Given the description of an element on the screen output the (x, y) to click on. 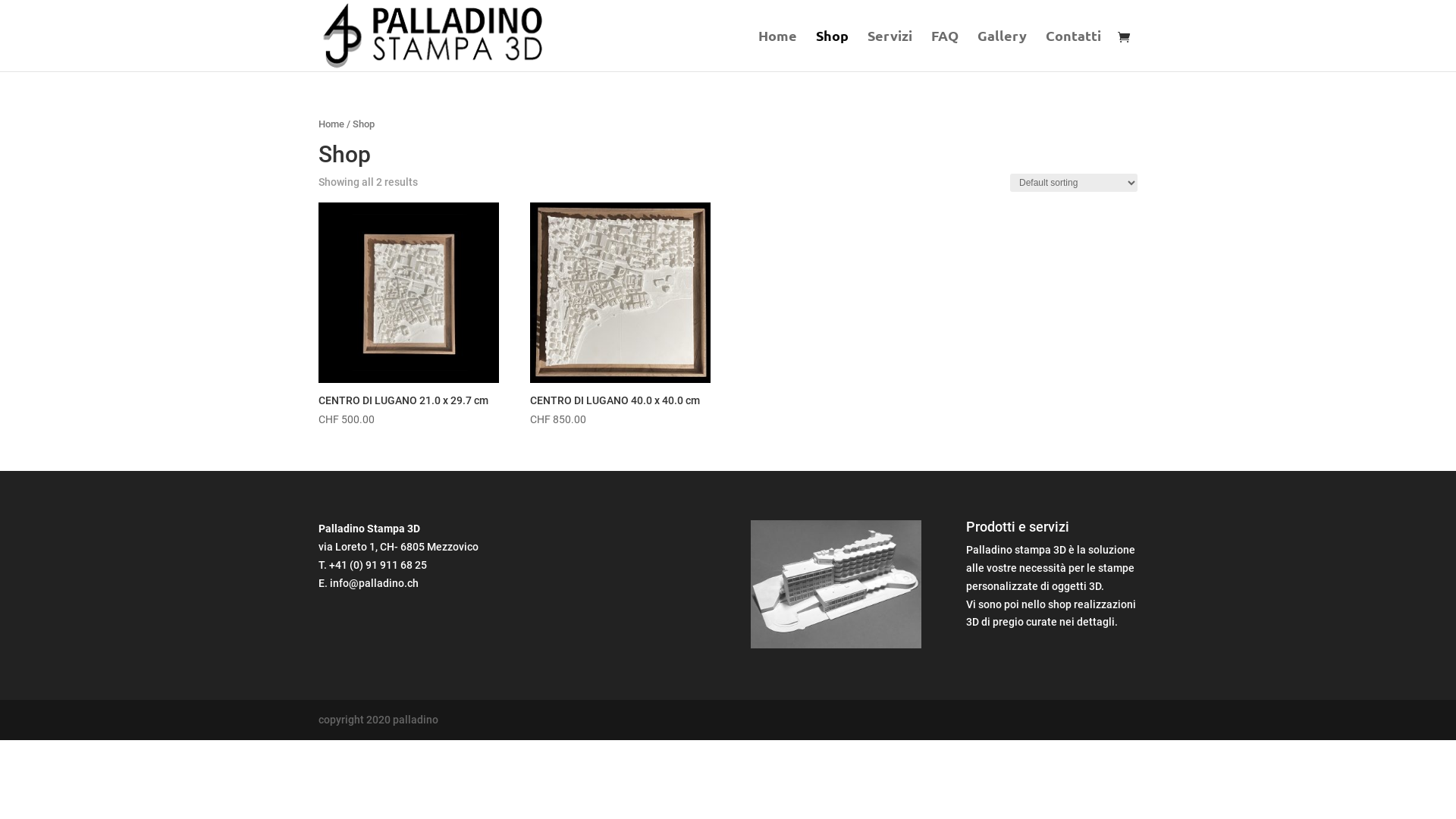
Servizi Element type: text (889, 50)
info@palladino.ch Element type: text (373, 583)
Contatti Element type: text (1073, 50)
Home Element type: text (777, 50)
Gallery Element type: text (1001, 50)
FAQ Element type: text (944, 50)
Home Element type: text (331, 123)
CENTRO DI LUGANO 40.0 x 40.0 cm
CHF 850.00 Element type: text (620, 315)
Shop Element type: text (831, 50)
CENTRO DI LUGANO 21.0 x 29.7 cm
CHF 500.00 Element type: text (408, 315)
